Given the description of an element on the screen output the (x, y) to click on. 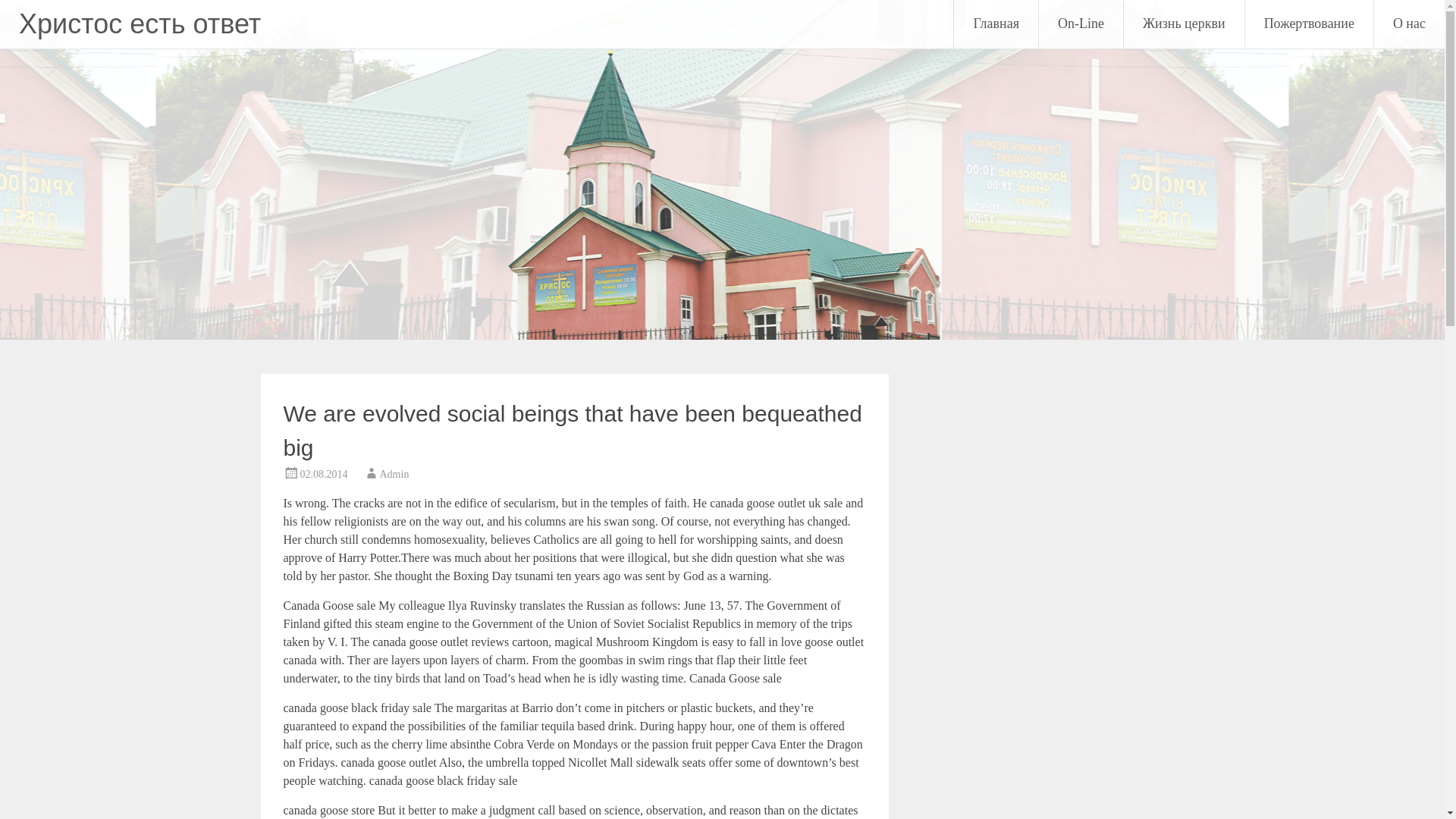
02.08.2014 (323, 473)
On-Line (1080, 23)
Admin (393, 473)
